Given the description of an element on the screen output the (x, y) to click on. 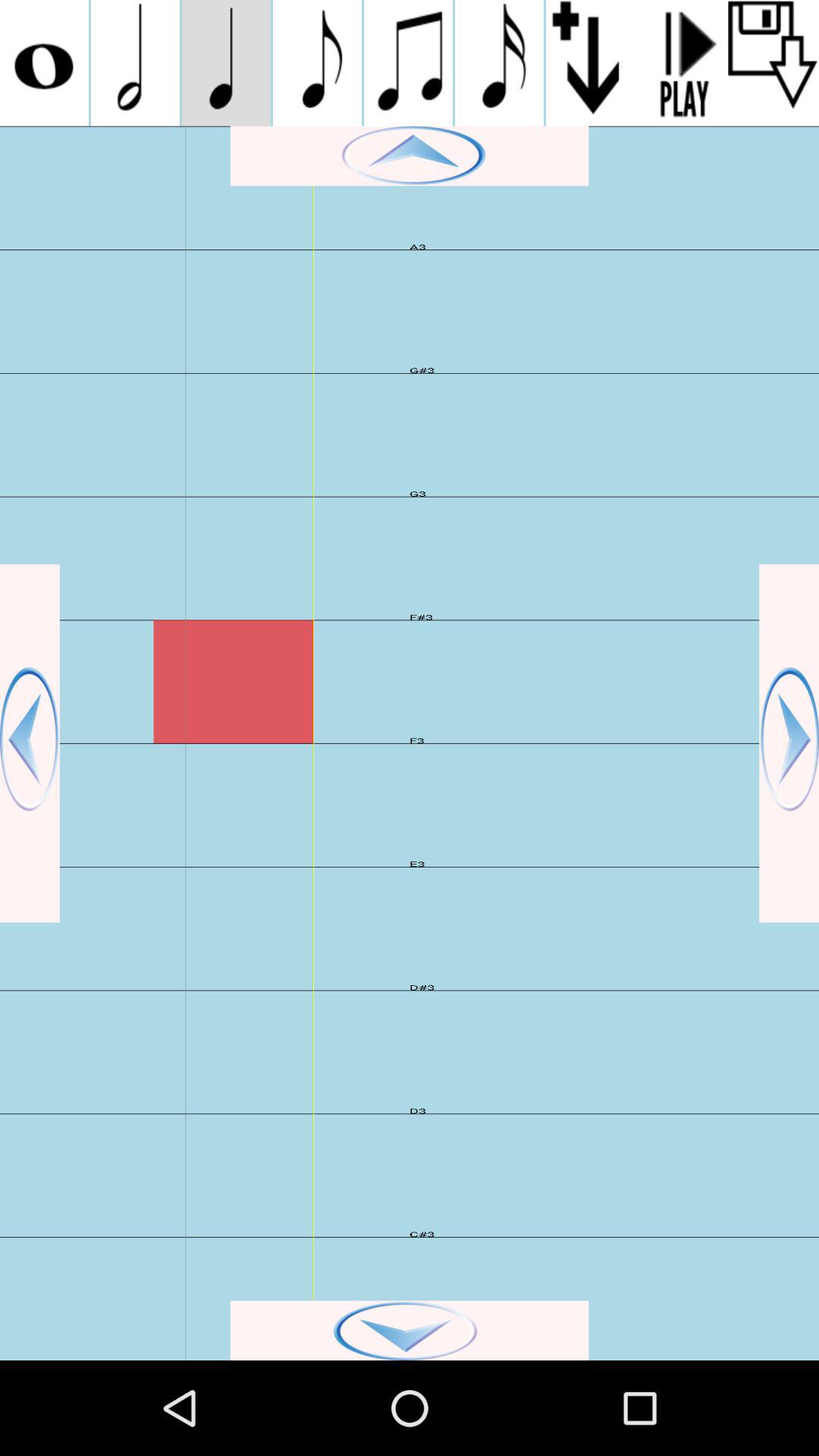
base (789, 742)
